Given the description of an element on the screen output the (x, y) to click on. 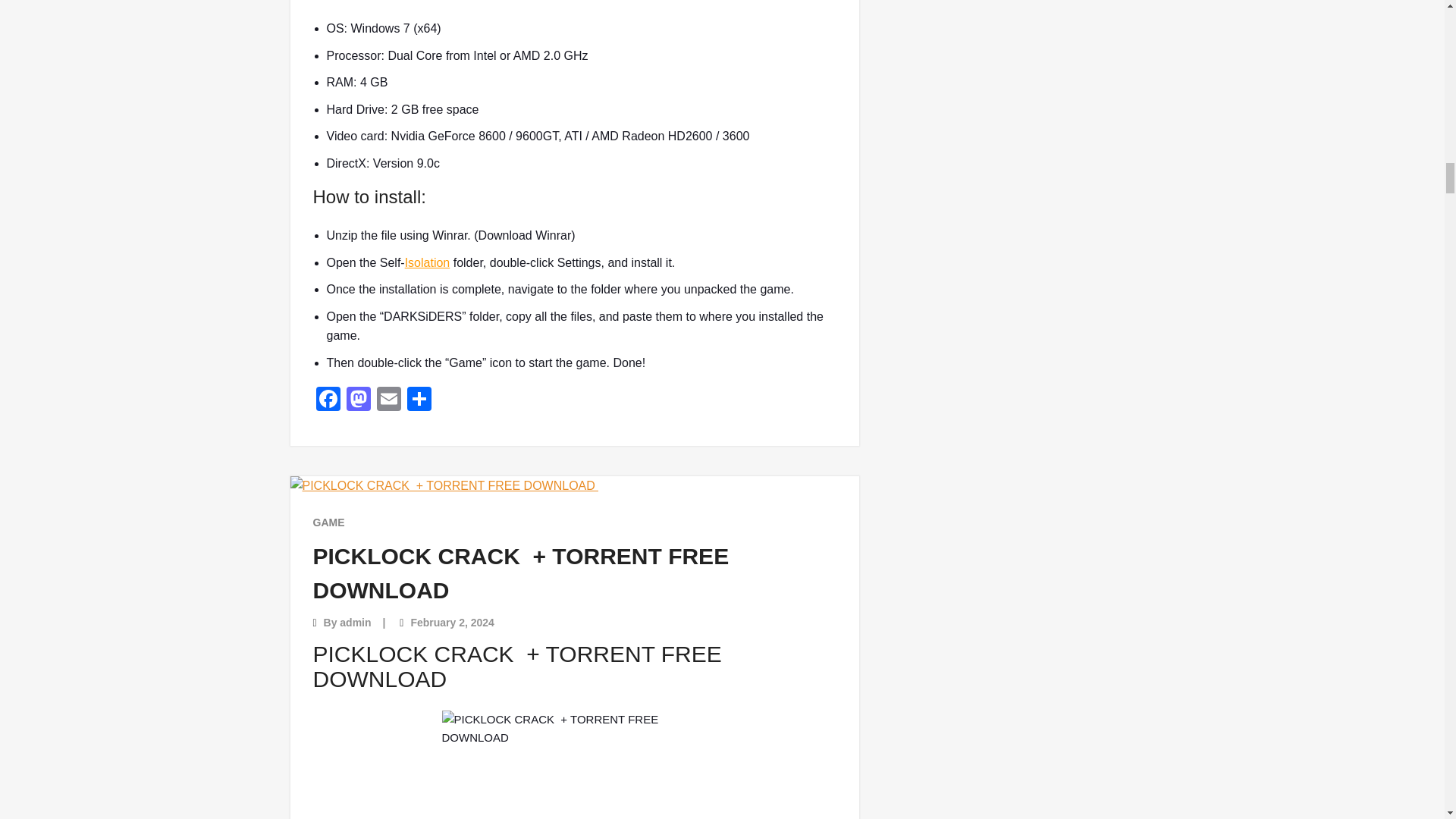
admin (355, 622)
February 2, 2024 (452, 622)
GAME (328, 522)
Facebook (327, 400)
Facebook (327, 400)
Mastodon (357, 400)
Isolation (426, 262)
Email (387, 400)
Mastodon (357, 400)
Email (387, 400)
